Given the description of an element on the screen output the (x, y) to click on. 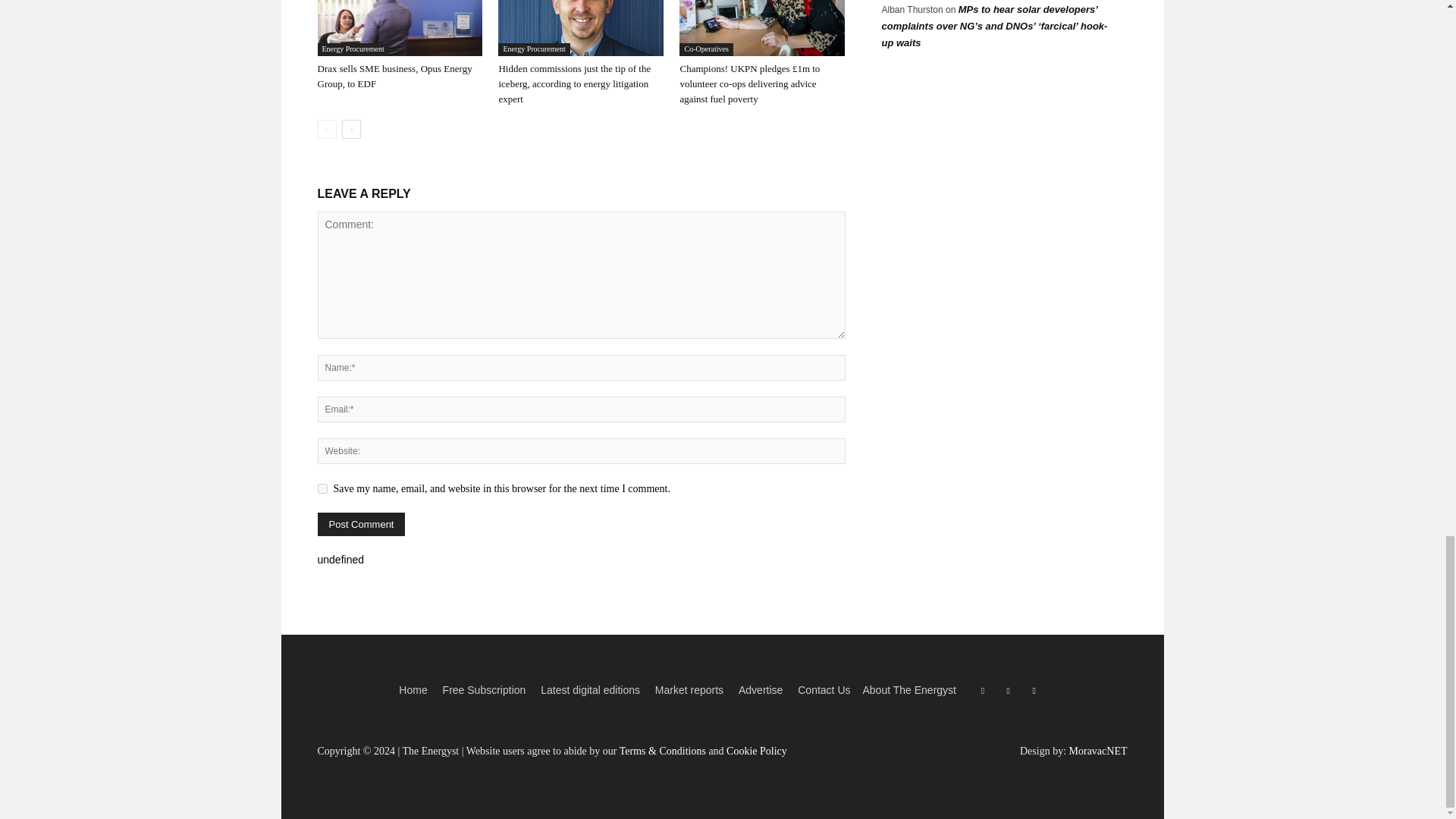
yes (321, 488)
Post Comment (360, 524)
